Given the description of an element on the screen output the (x, y) to click on. 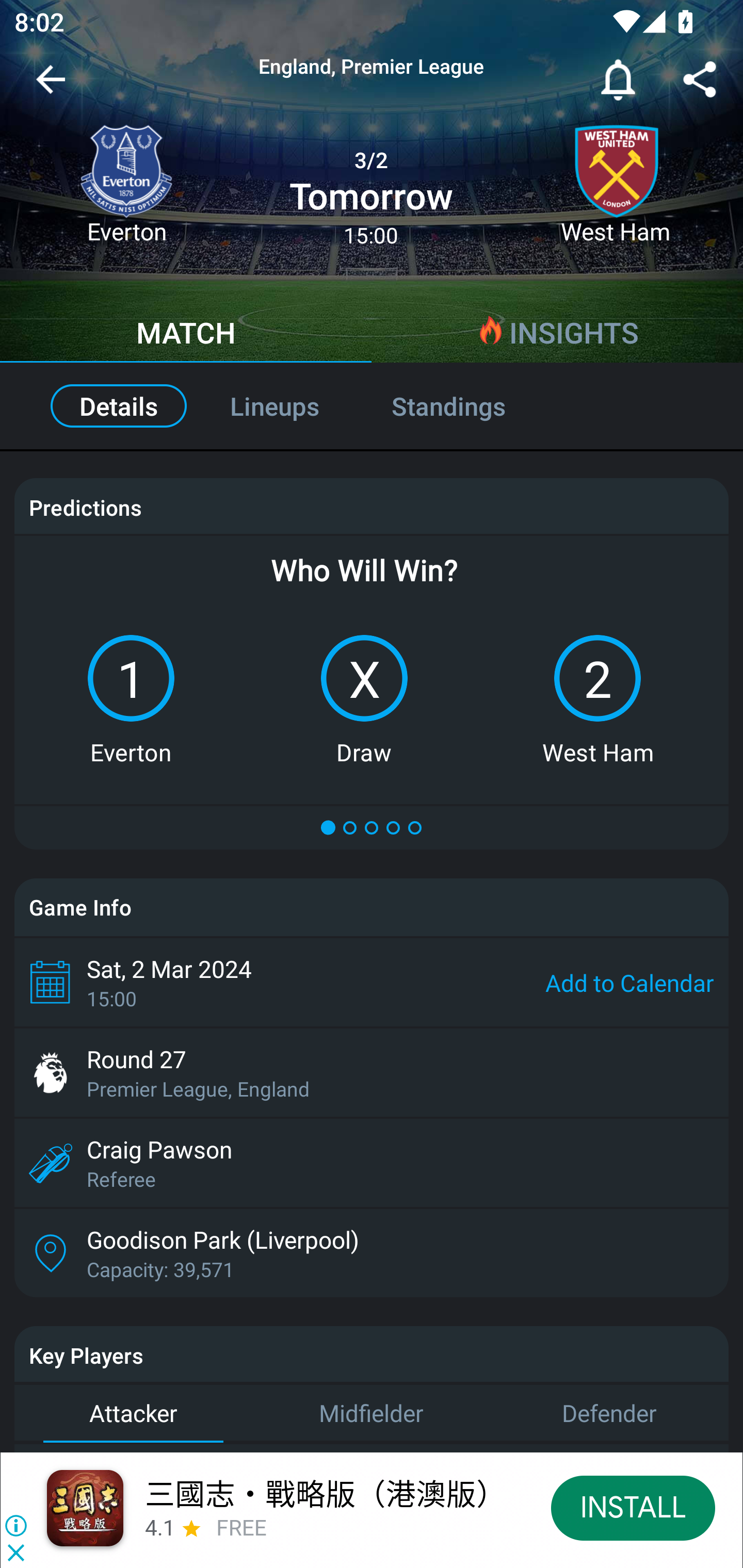
Navigate up (50, 86)
England, Premier League (371, 66)
Share (699, 82)
Everton (126, 192)
West Ham (616, 192)
MATCH (185, 335)
INSIGHTS (557, 335)
Lineups (274, 406)
Standings (470, 406)
Predictions (85, 507)
1 (130, 678)
X (363, 678)
2 (597, 678)
Game Info (371, 907)
Sat, 2 Mar 2024 15:00 Add to Calendar (371, 982)
Round 27 Premier League, England (371, 1072)
Goodison Park (Liverpool) Capacity: 39,571 (371, 1252)
Midfielder (371, 1413)
Defender (609, 1413)
三國志・戰略版（港澳版） (324, 1493)
INSTALL (632, 1507)
